Given the description of an element on the screen output the (x, y) to click on. 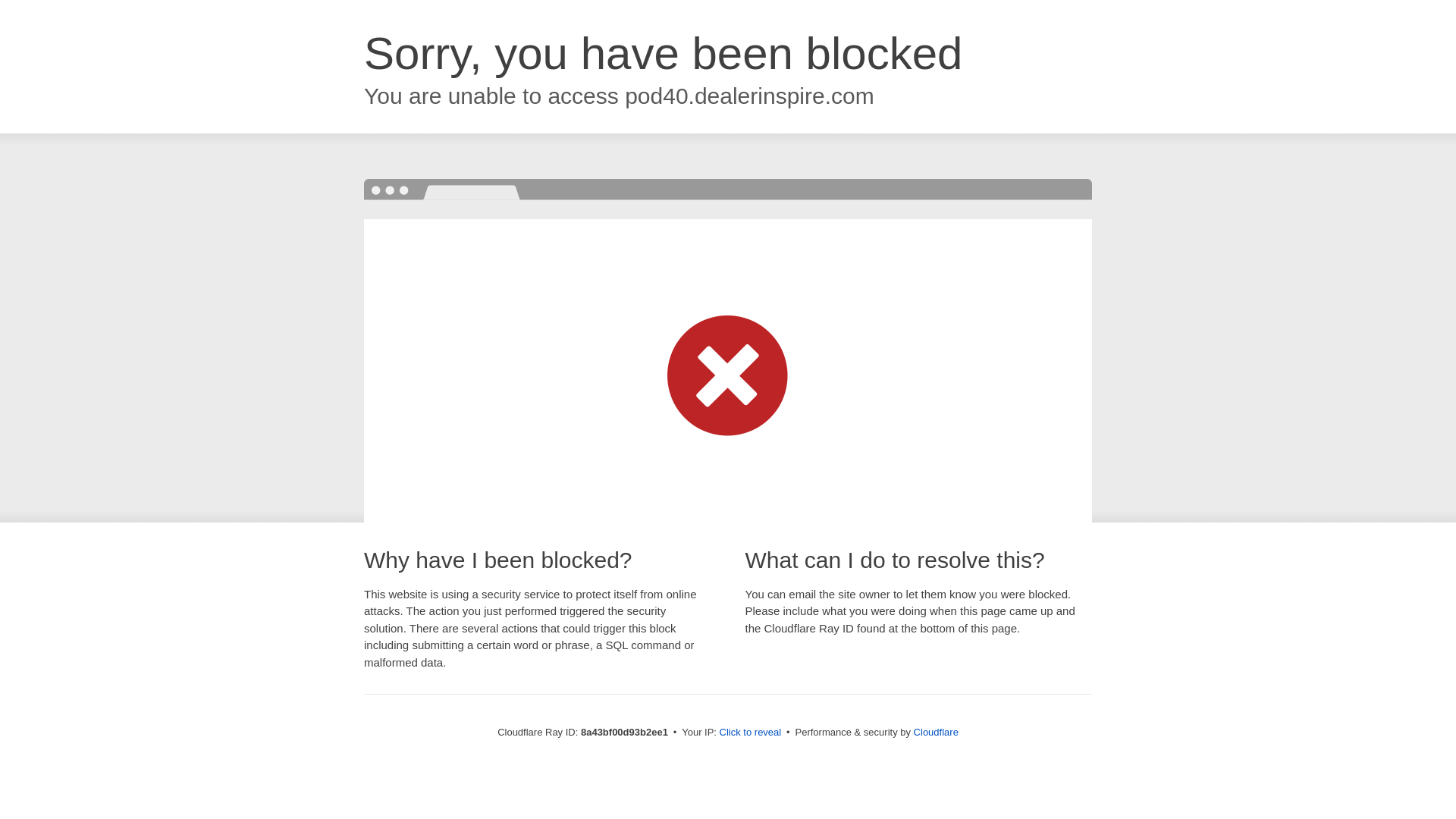
Click to reveal (750, 732)
Cloudflare (936, 731)
